Given the description of an element on the screen output the (x, y) to click on. 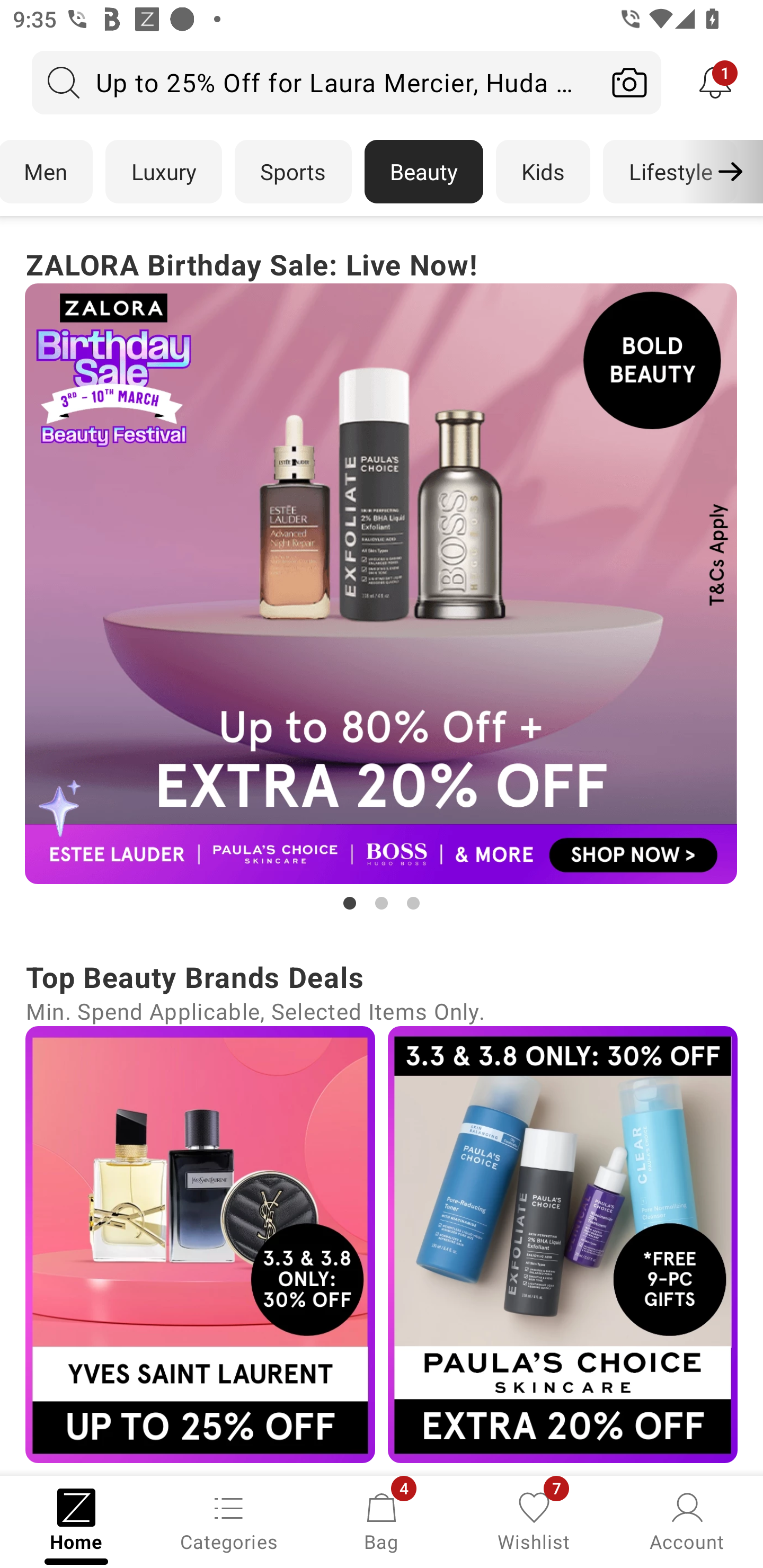
Men (46, 171)
Luxury (163, 171)
Sports (293, 171)
Beauty (423, 171)
Kids (542, 171)
Lifestyle (669, 171)
ZALORA Birthday Sale: Live Now!  Campaign banner (381, 578)
Campaign banner (381, 583)
Campaign banner (200, 1243)
Campaign banner (562, 1243)
Categories (228, 1519)
Bag, 4 new notifications Bag (381, 1519)
Wishlist, 7 new notifications Wishlist (533, 1519)
Account (686, 1519)
